Given the description of an element on the screen output the (x, y) to click on. 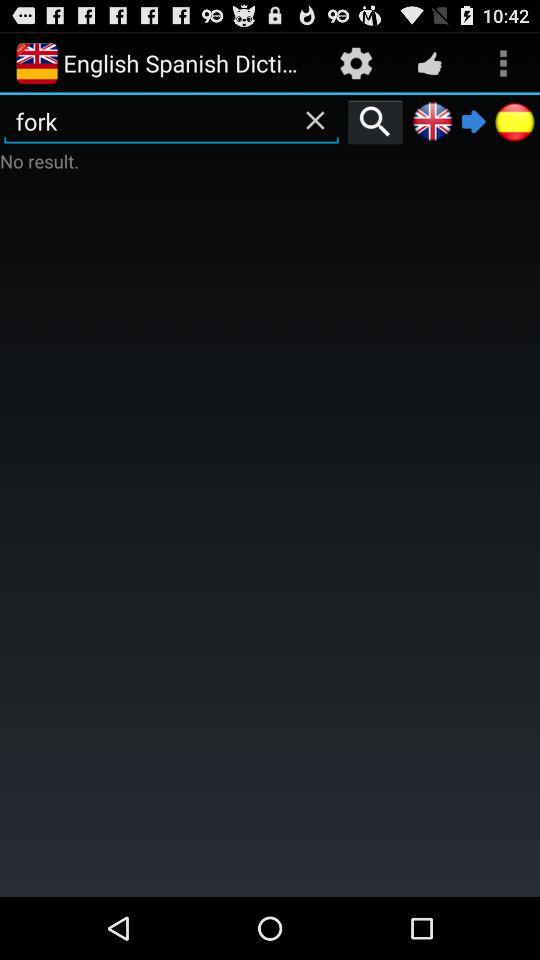
jump to fork item (171, 121)
